Given the description of an element on the screen output the (x, y) to click on. 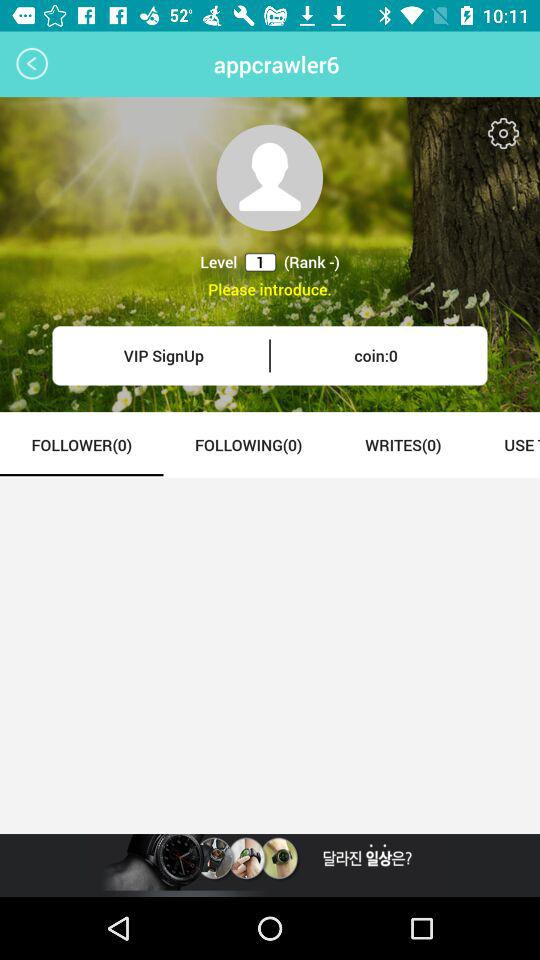
go to settings (503, 133)
